Given the description of an element on the screen output the (x, y) to click on. 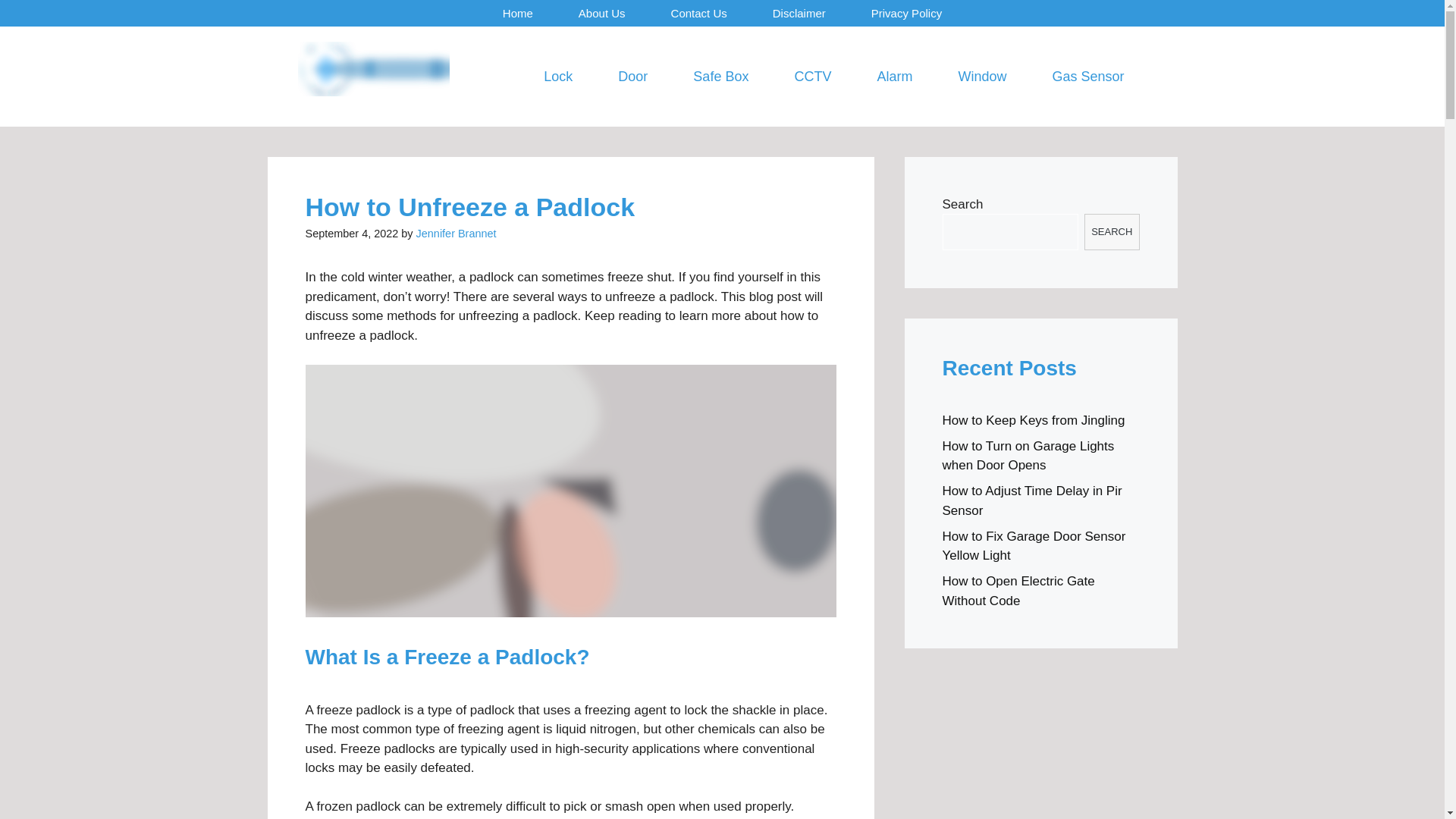
Door (632, 76)
Home (518, 13)
Window (981, 76)
Disclaimer (798, 13)
Jennifer Brannet (456, 233)
CCTV (812, 76)
How to Open Electric Gate Without Code (1018, 591)
How to Keep Keys from Jingling (1033, 420)
About Us (601, 13)
SEARCH (1111, 231)
How to Fix Garage Door Sensor Yellow Light (1033, 546)
Lock (558, 76)
Privacy Policy (905, 13)
Safe Box (720, 76)
Gas Sensor (1088, 76)
